Given the description of an element on the screen output the (x, y) to click on. 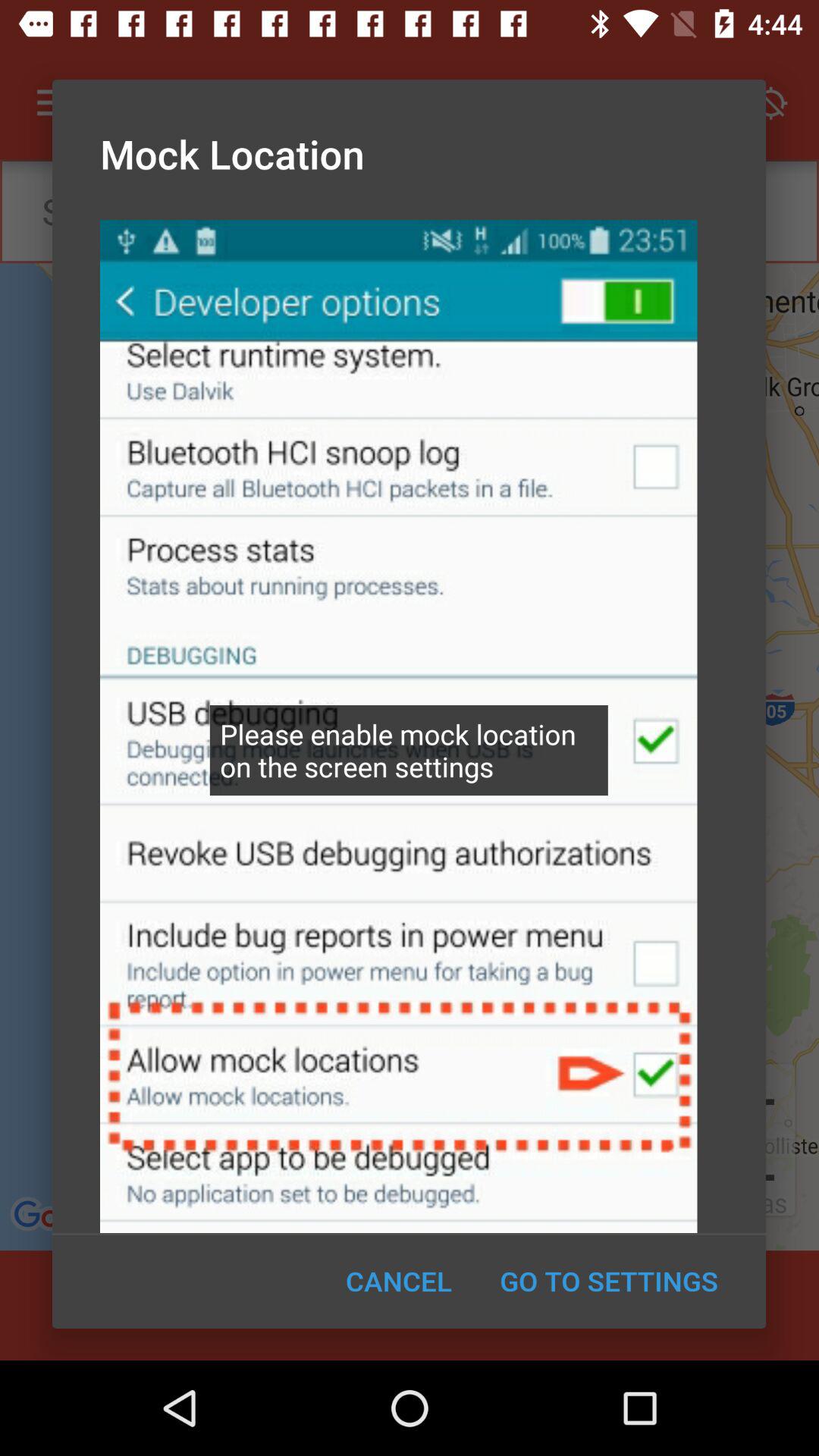
press the icon at the bottom right corner (609, 1280)
